Given the description of an element on the screen output the (x, y) to click on. 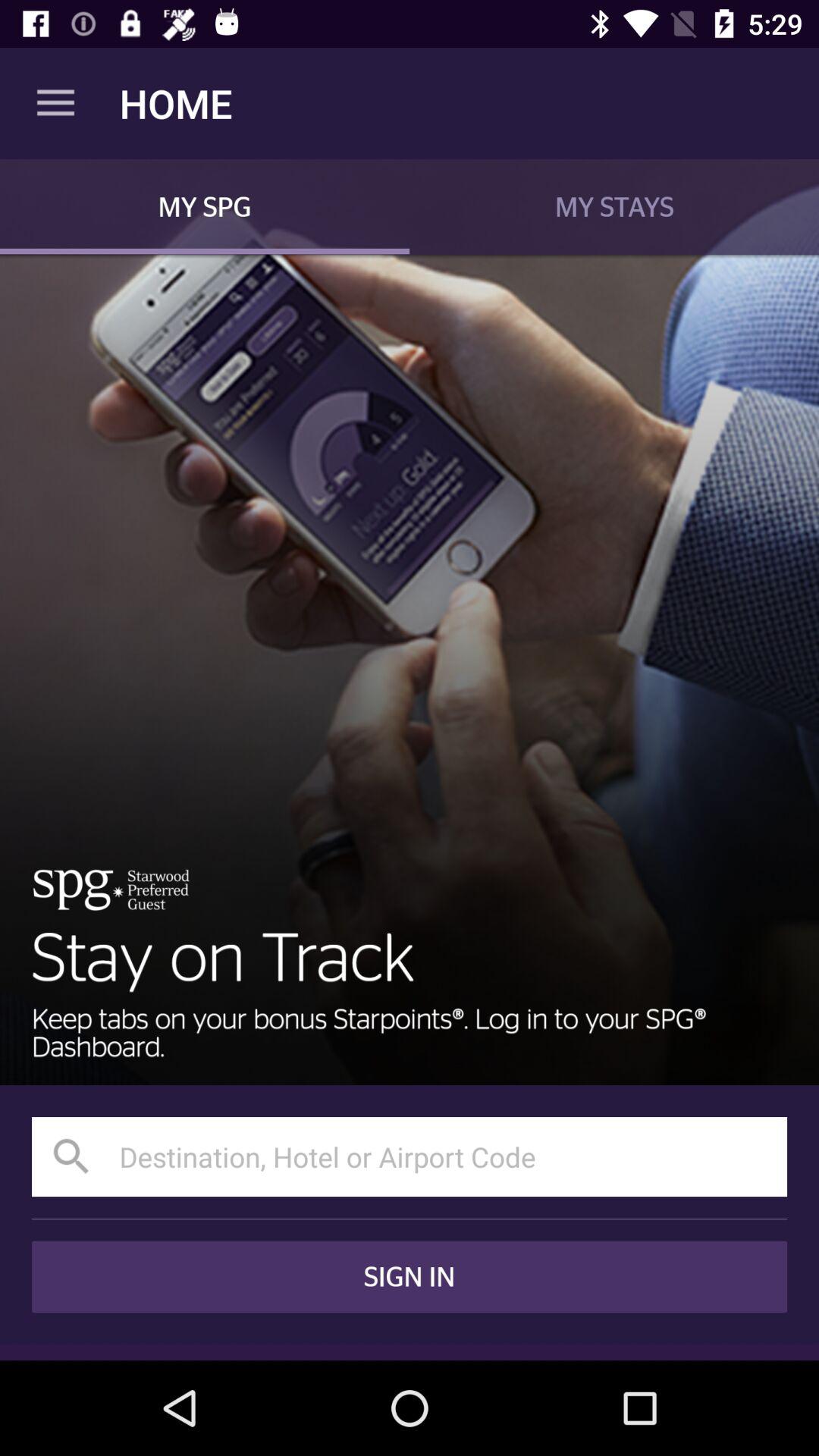
choose the item to the left of my stays app (204, 206)
